Given the description of an element on the screen output the (x, y) to click on. 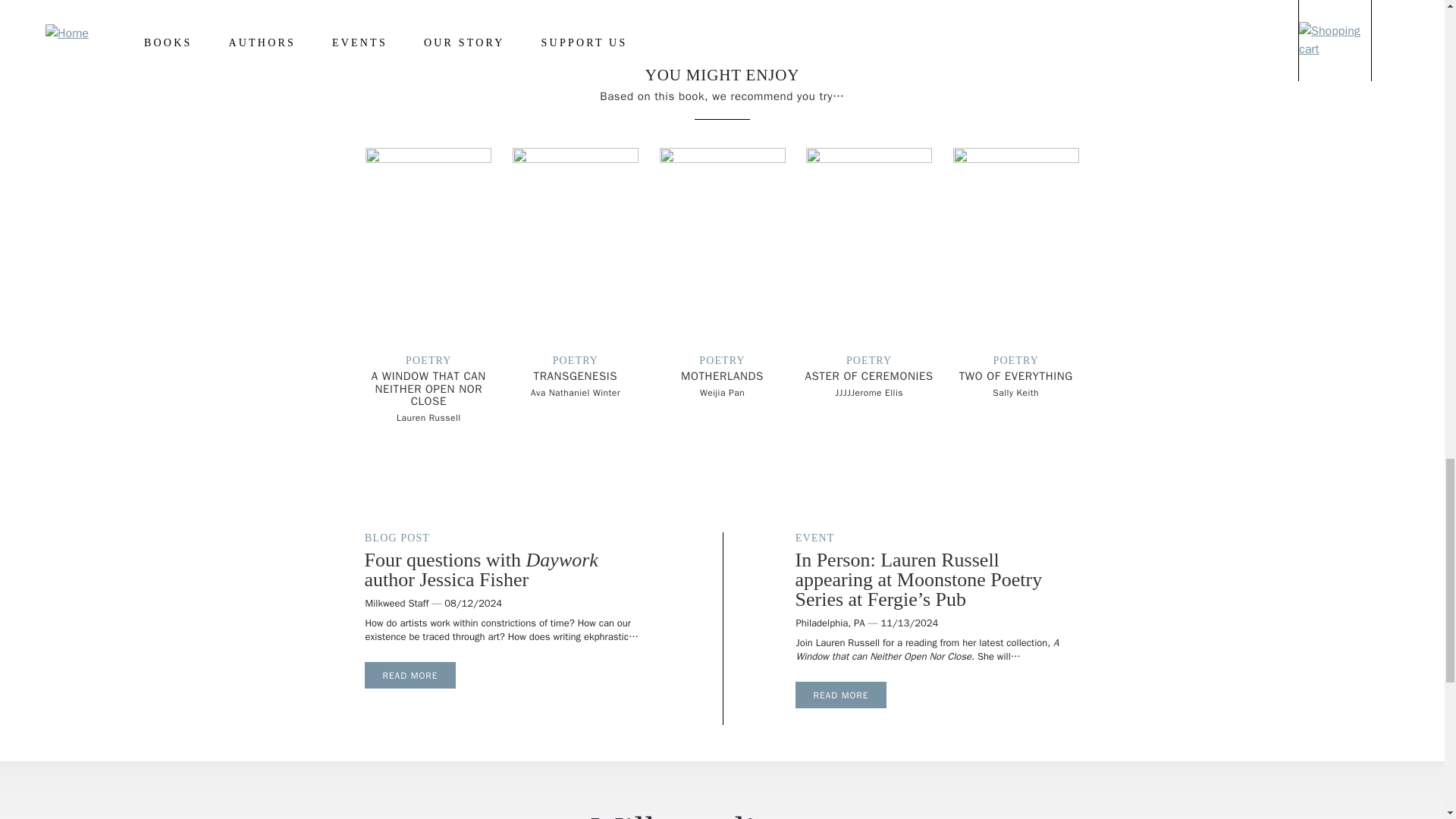
Four questions with Daywork author Jessica Fisher (409, 674)
MOTHERLANDS (721, 376)
TWO OF EVERYTHING (1016, 376)
TRANSGENESIS (575, 376)
ASTER OF CEREMONIES (869, 376)
A WINDOW THAT CAN NEITHER OPEN NOR CLOSE (428, 388)
